Given the description of an element on the screen output the (x, y) to click on. 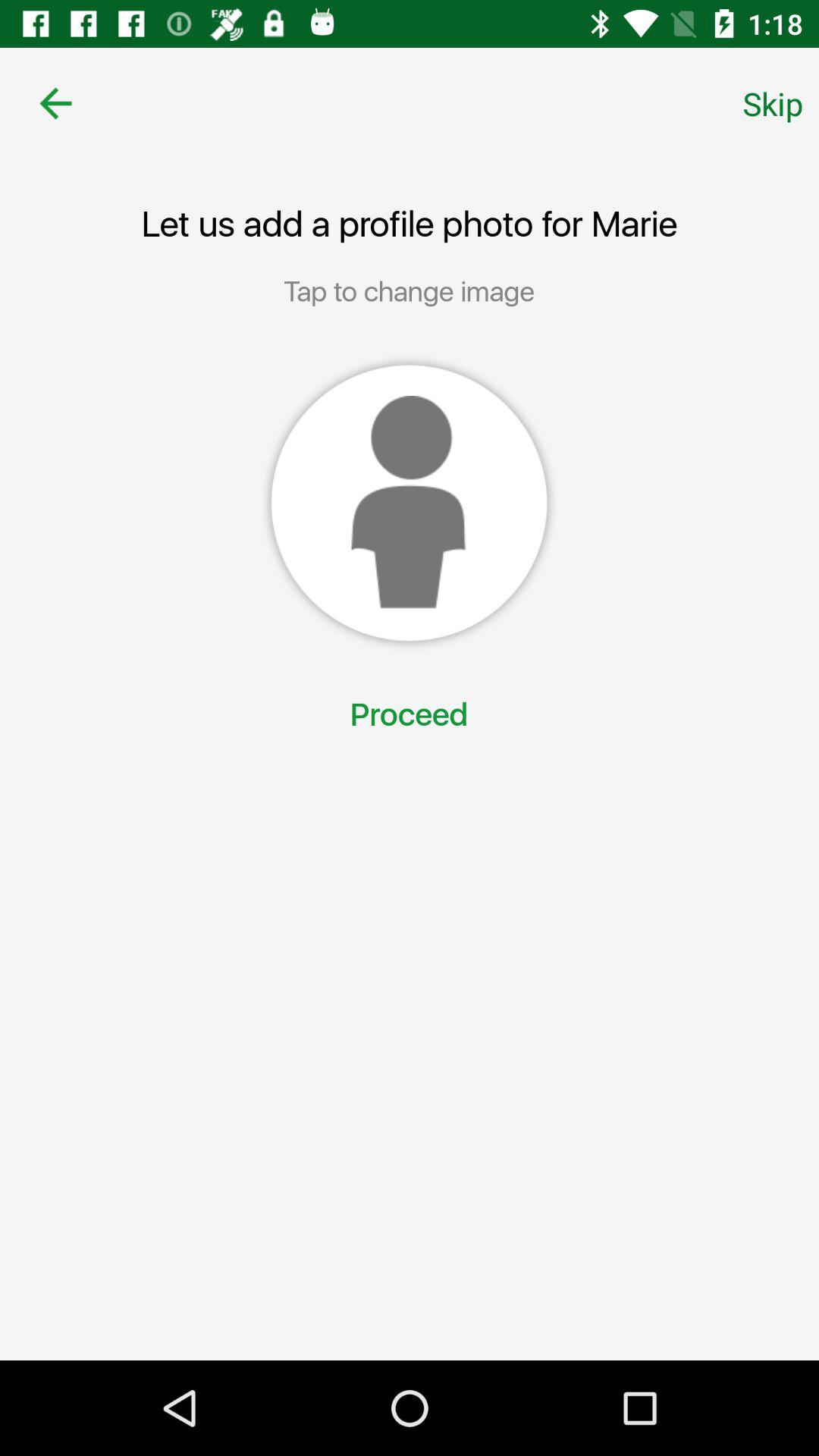
select icon below the tap to change (408, 502)
